Given the description of an element on the screen output the (x, y) to click on. 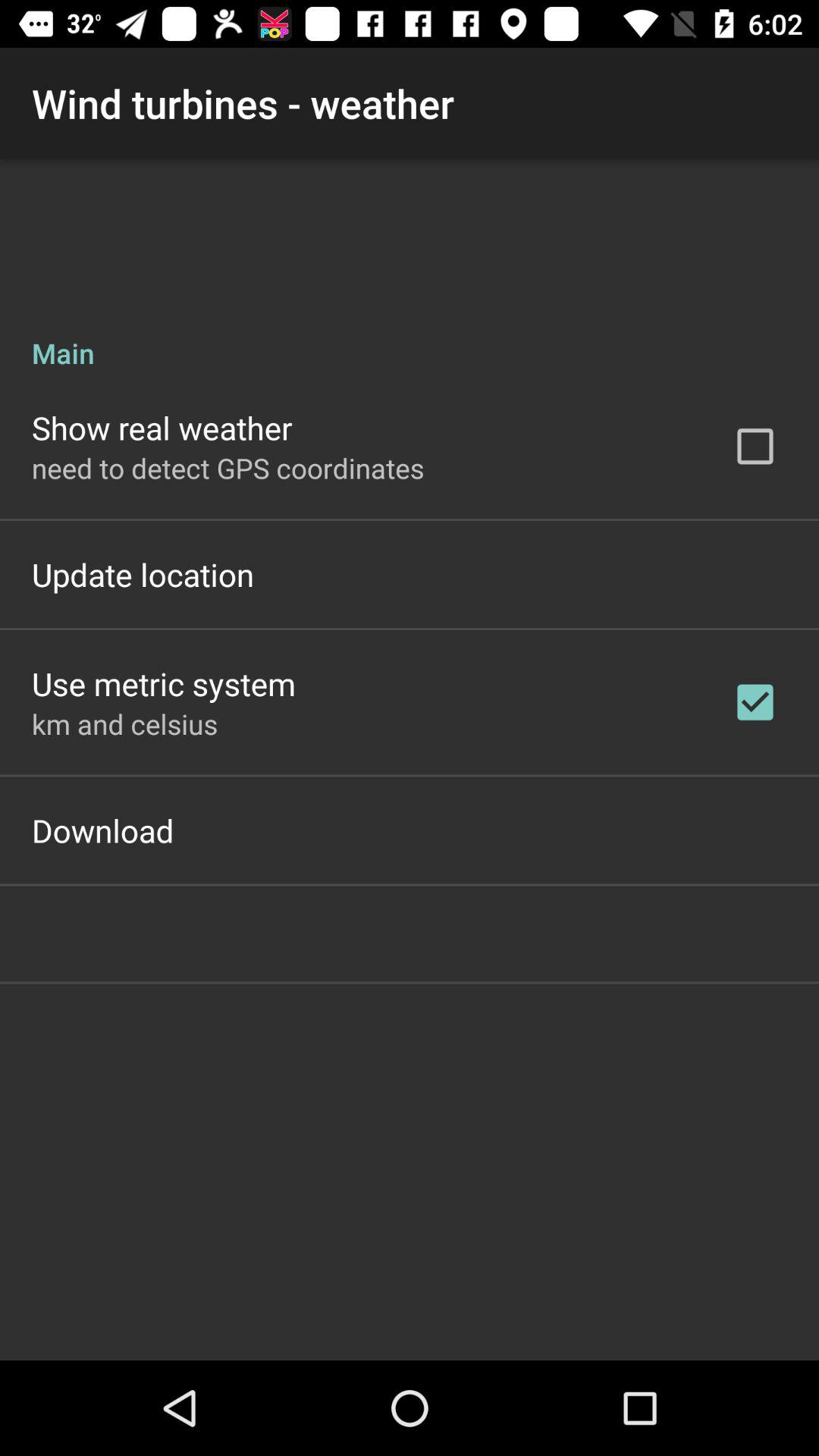
choose the use metric system item (163, 683)
